Given the description of an element on the screen output the (x, y) to click on. 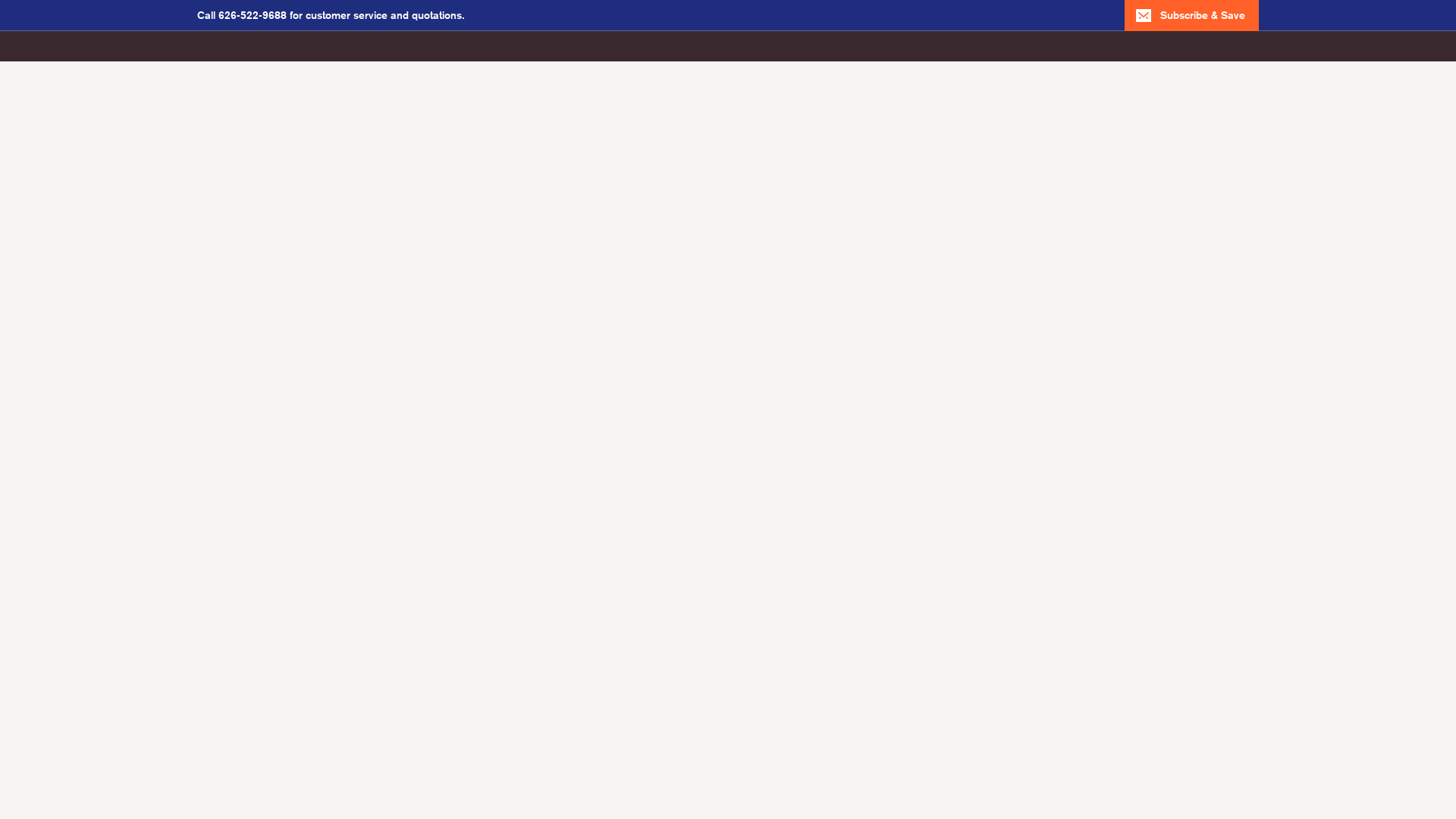
Subscribe & Save Element type: text (1191, 15)
